Given the description of an element on the screen output the (x, y) to click on. 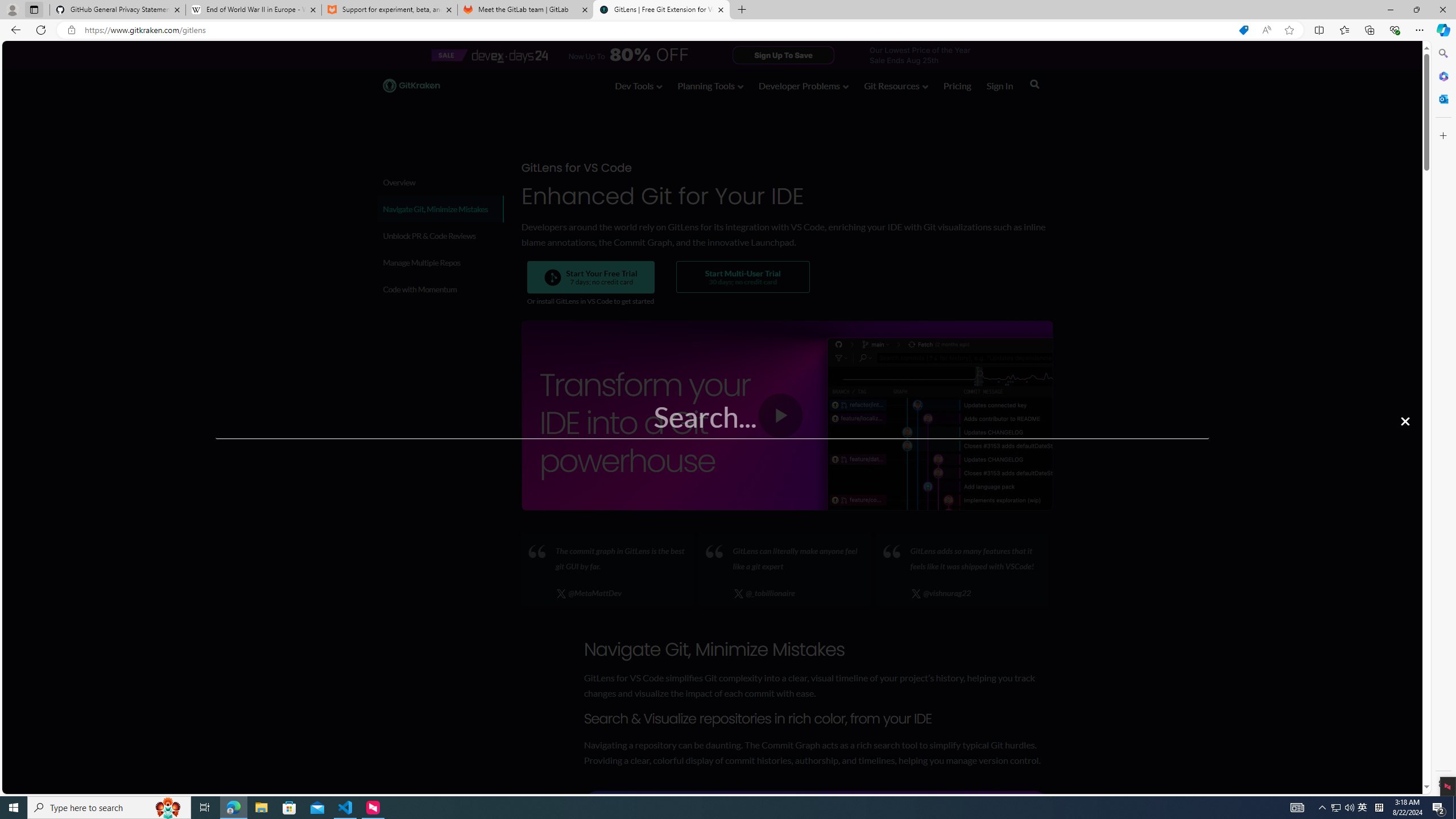
Manage Multiple Repos (439, 262)
Navigate Git, Minimize Mistakes (440, 208)
GitHub General Privacy Statement - GitHub Docs (117, 9)
Start Multi-User Trial 30 days; no credit card (742, 277)
Pricing (957, 85)
